Given the description of an element on the screen output the (x, y) to click on. 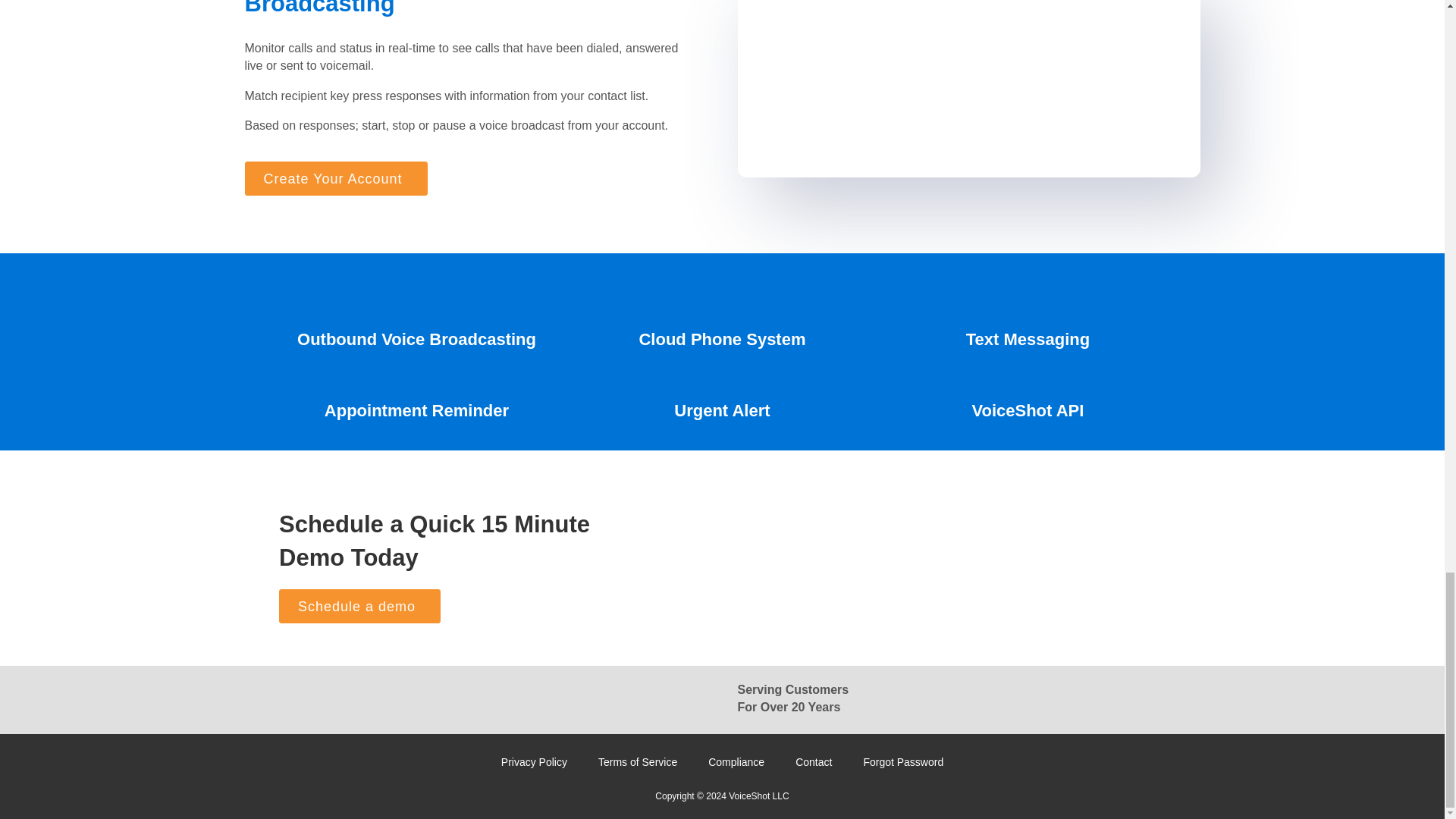
Schedule a demo (360, 605)
Terms of Service (638, 761)
Privacy Policy (534, 761)
VoiceShot-Reporting-800 (967, 89)
Contact (813, 761)
Create Your Account (335, 178)
Compliance (735, 761)
TrustedSite Certified (660, 699)
